Given the description of an element on the screen output the (x, y) to click on. 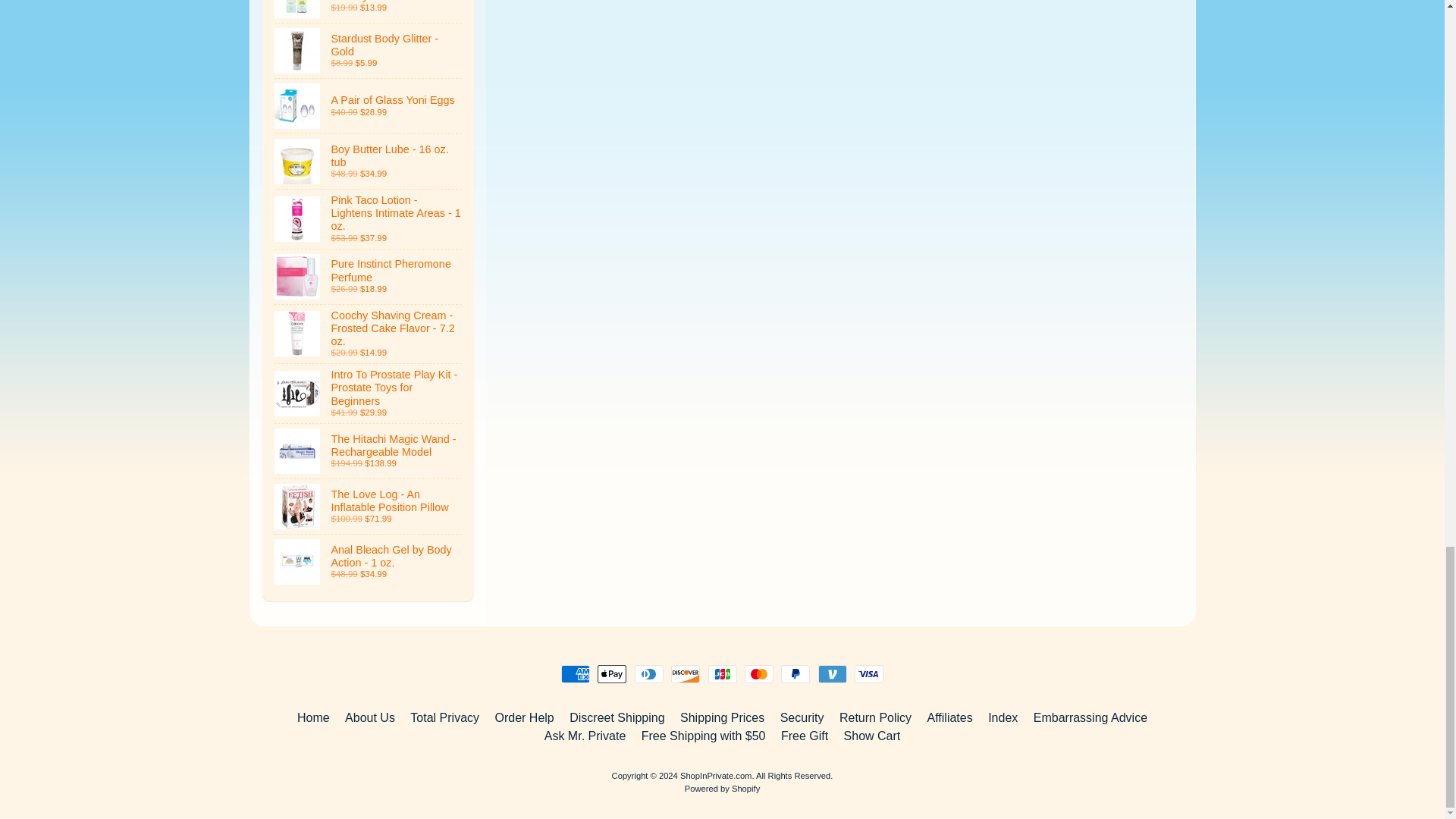
PayPal (794, 674)
A Pair of Glass Yoni Eggs (369, 105)
Pink Taco Lotion - Lightens Intimate Areas - 1 oz. (369, 218)
Discover (685, 674)
Apple Pay (611, 674)
Visa (868, 674)
Stardust Body Glitter - Gold (369, 50)
American Express (574, 674)
Boy Butter Lube - 16 oz. tub (369, 161)
Ingrown Hair Oil by Coochy - 0.5 oz. (369, 11)
